Given the description of an element on the screen output the (x, y) to click on. 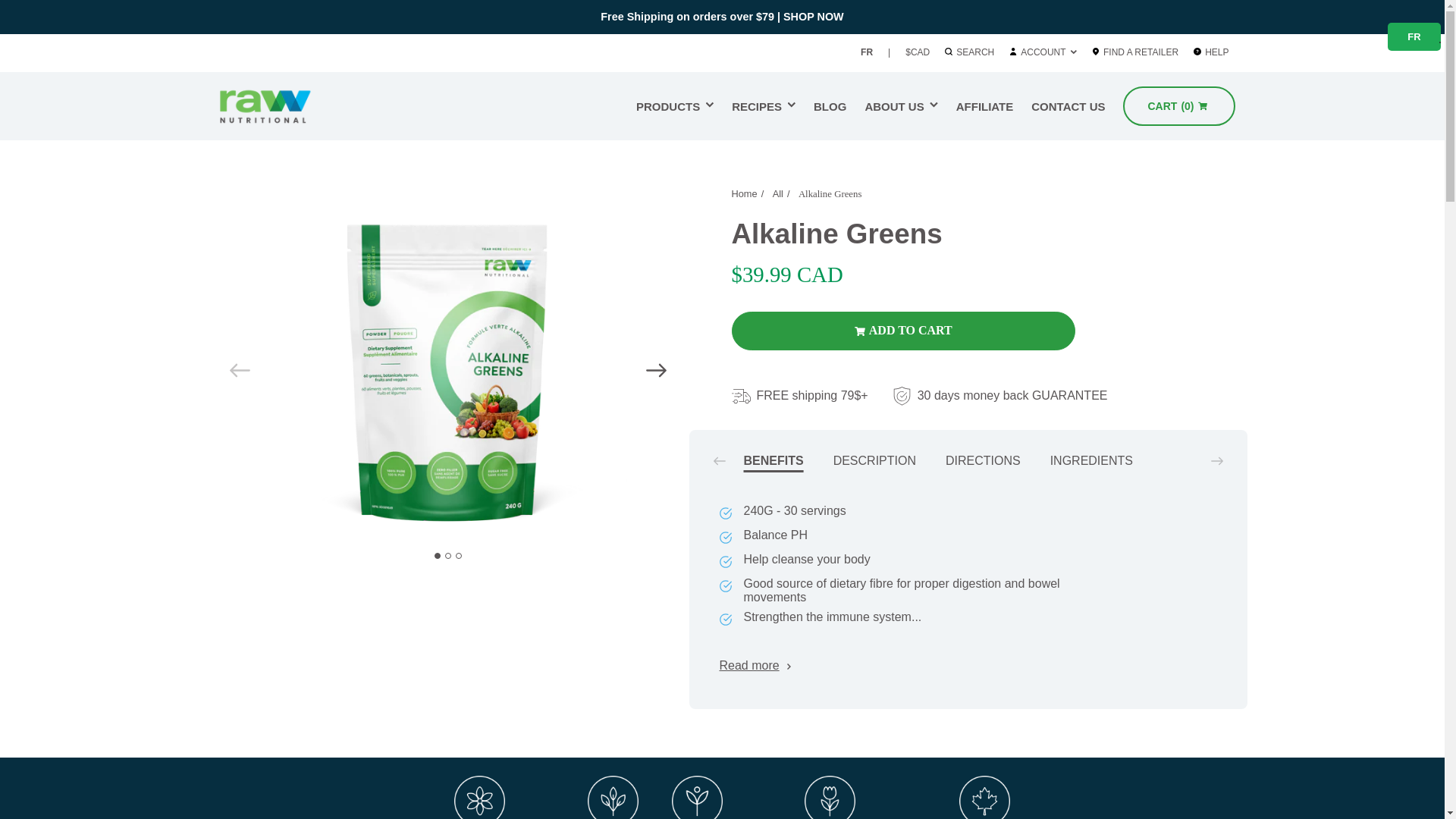
FR (866, 52)
RAW Nutritional (284, 106)
HELP (1218, 52)
EXPAND (1073, 52)
BLOG (763, 106)
EXPAND (829, 106)
ACCOUNT (933, 104)
EXPAND (1042, 52)
FR (674, 106)
FIND A RETAILER (710, 104)
EXPAND (1414, 37)
